Given the description of an element on the screen output the (x, y) to click on. 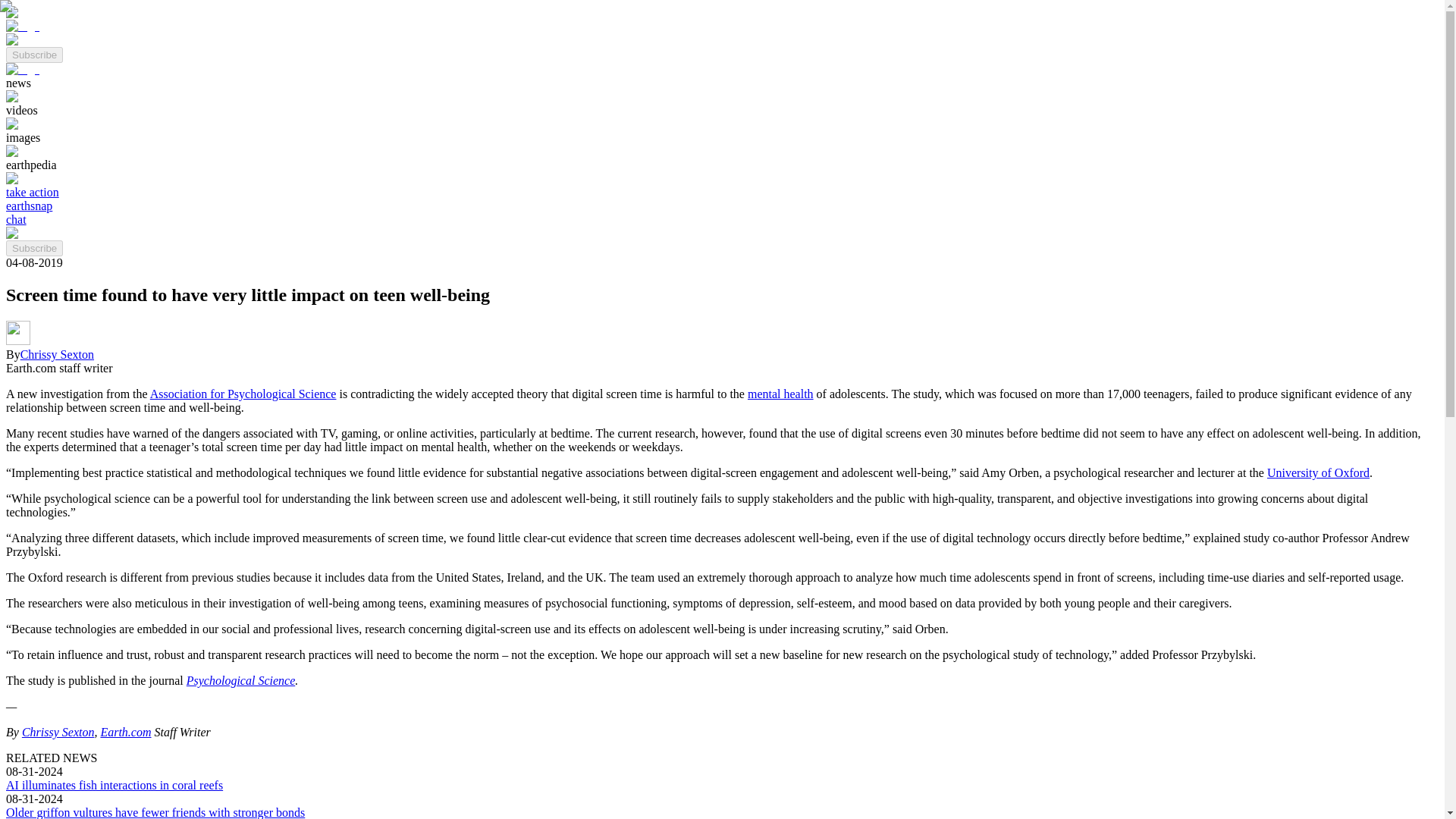
University of Oxford (1318, 472)
Subscribe (33, 54)
Chrissy Sexton (57, 354)
earthsnap (28, 205)
AI illuminates fish interactions in coral reefs (113, 784)
Earth.com (125, 731)
Subscribe (33, 246)
Subscribe (33, 248)
take action (32, 192)
